Given the description of an element on the screen output the (x, y) to click on. 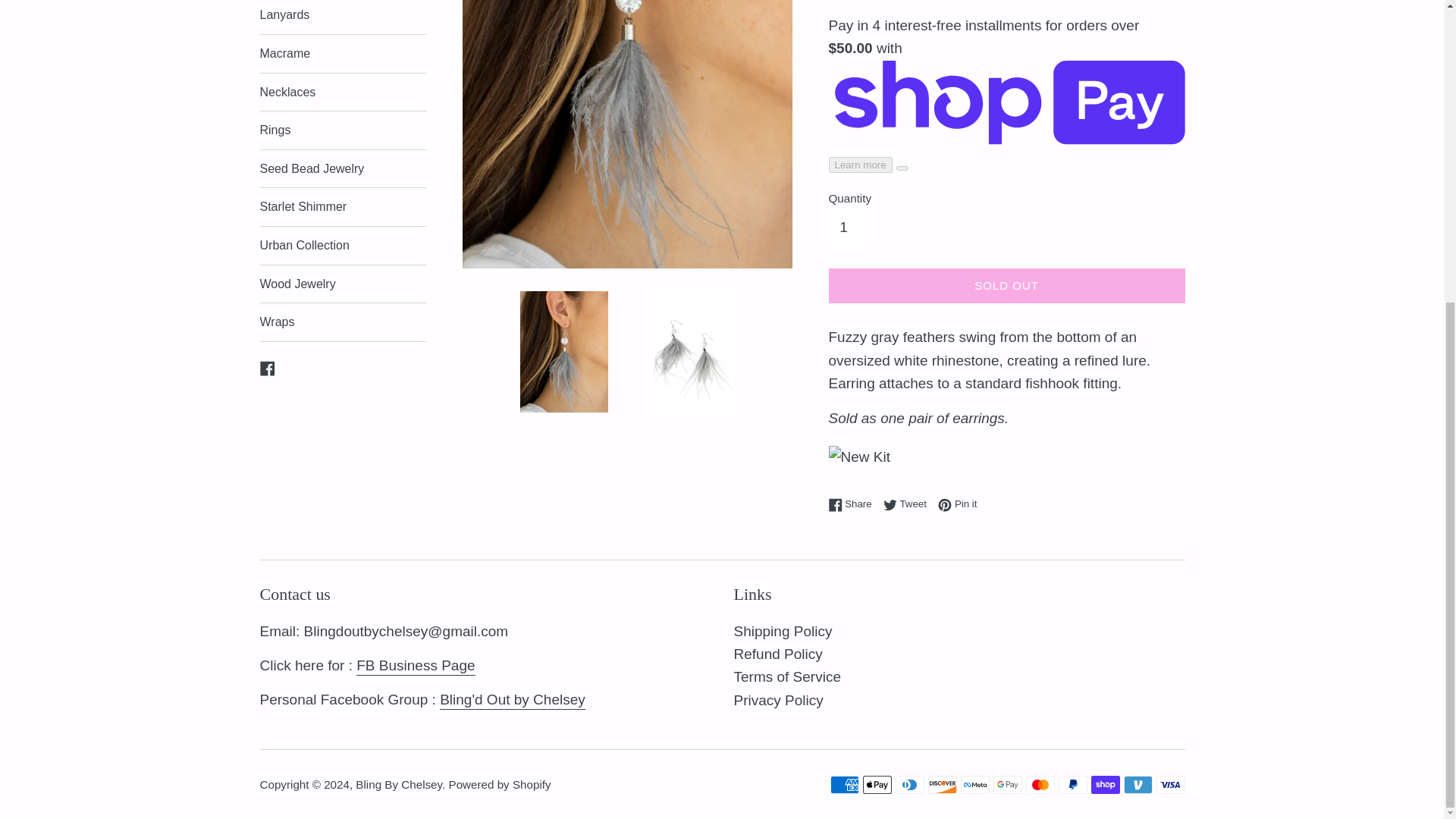
Tweet on Twitter (908, 503)
FB Business Page (415, 666)
PayPal (1072, 784)
Starlet Shimmer (342, 207)
Terms of Service (908, 503)
Seed Bead Jewelry (787, 676)
Bling'd Out by Chelsey (342, 168)
1 (512, 700)
Rings (848, 226)
Macrame (342, 130)
Privacy Policy (342, 53)
Venmo (778, 700)
Pin on Pinterest (853, 503)
